Given the description of an element on the screen output the (x, y) to click on. 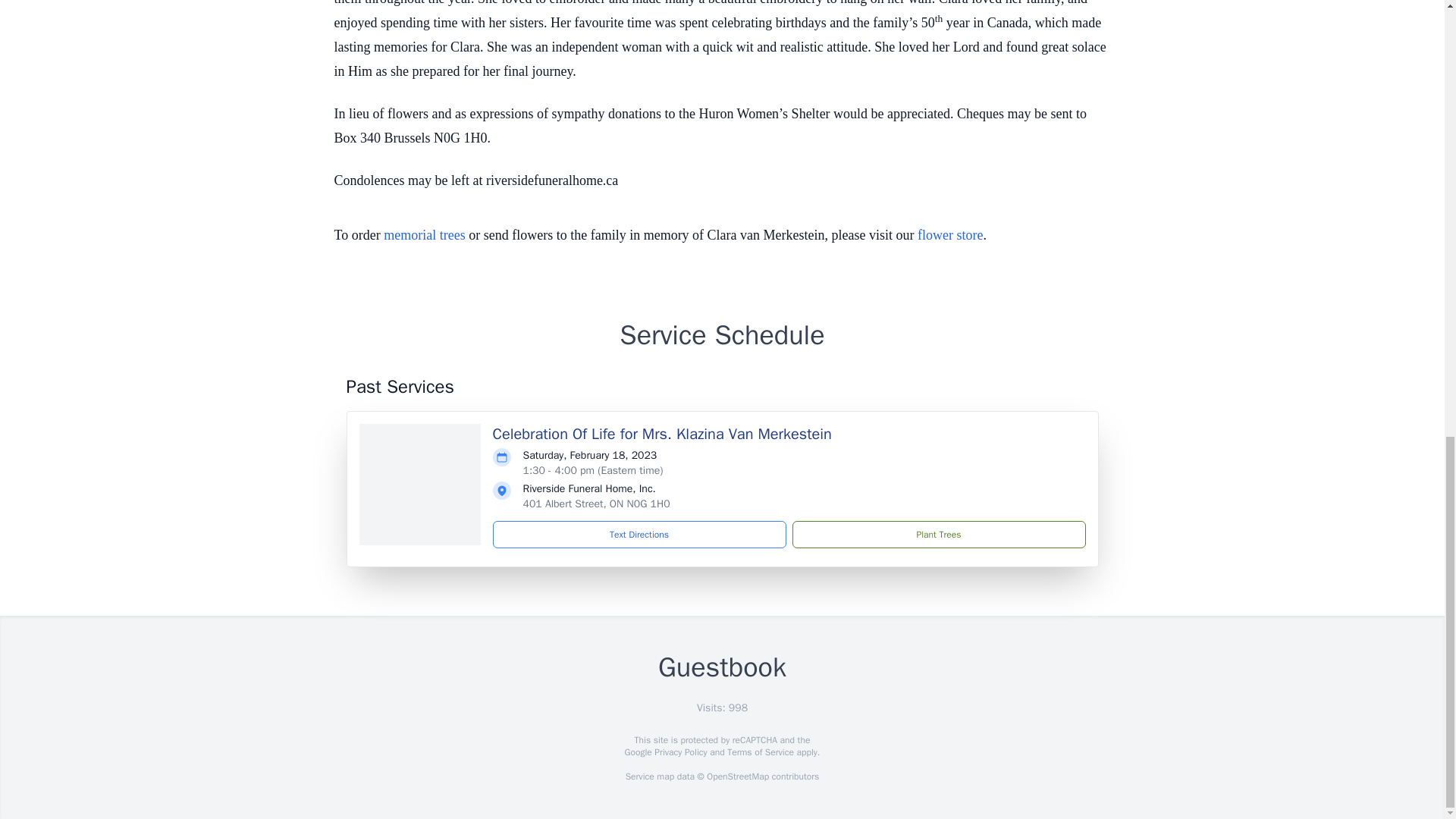
Text Directions (639, 533)
OpenStreetMap (737, 776)
Privacy Policy (679, 752)
401 Albert Street, ON N0G 1H0 (595, 503)
Terms of Service (759, 752)
Plant Trees (938, 533)
memorial trees (424, 234)
flower store (949, 234)
